Given the description of an element on the screen output the (x, y) to click on. 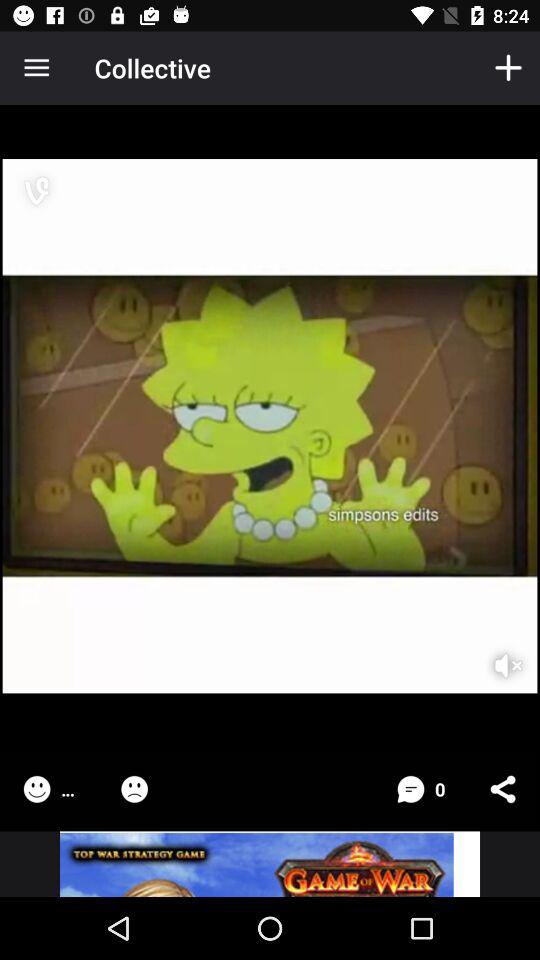
turn off sound (495, 652)
